Given the description of an element on the screen output the (x, y) to click on. 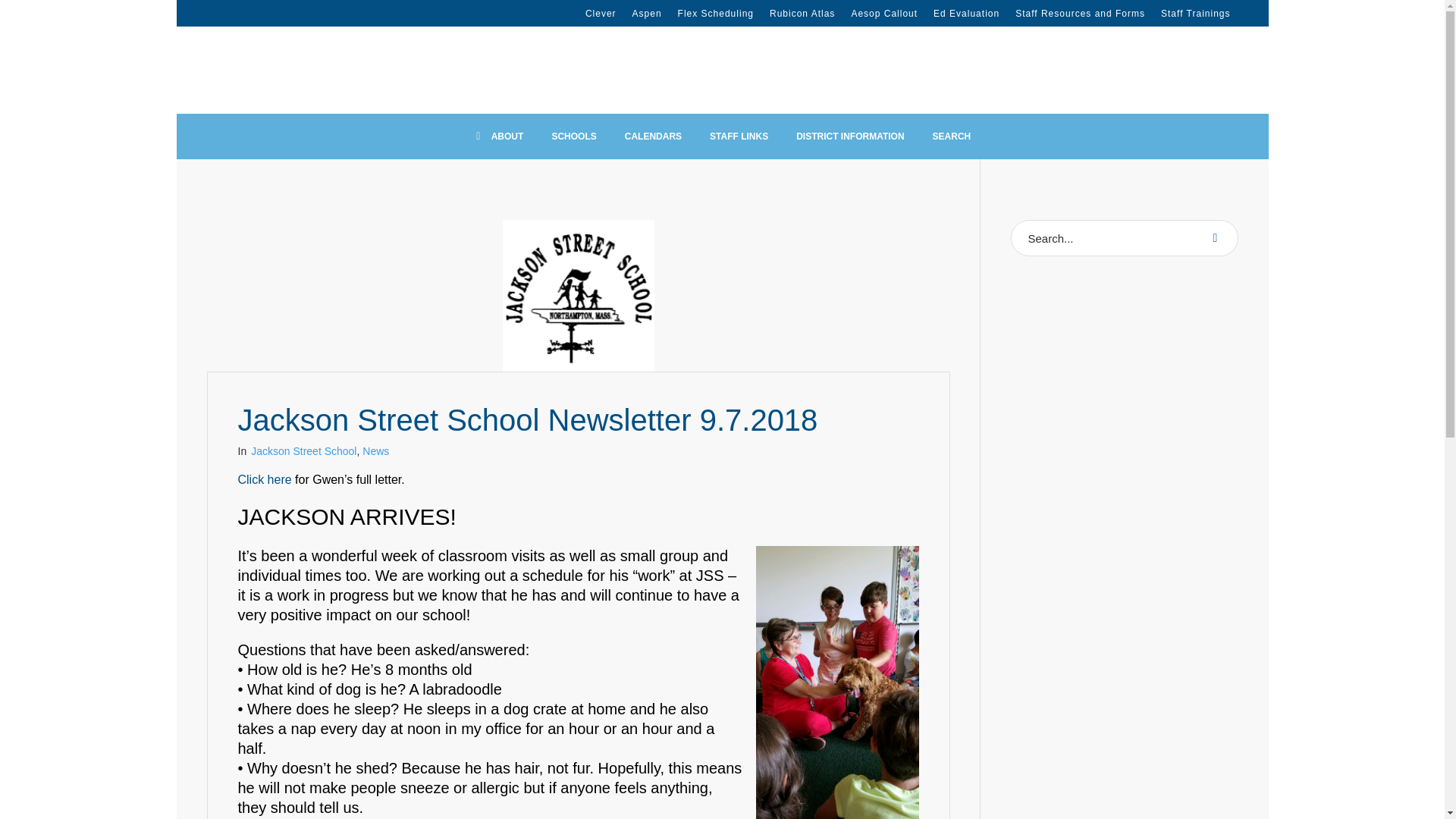
Staff Trainings (1196, 13)
Aspen (646, 13)
Jackson Street School Newsletter 9.7.2018 (577, 294)
Aesop Callout (883, 13)
Clever (601, 13)
Staff Resources and Forms (1080, 13)
Jackson Street School Newsletter 9.7.2018 (577, 295)
SCHOOLS (573, 135)
Rubicon Atlas (802, 13)
Ed Evaluation (966, 13)
Flex Scheduling (715, 13)
ABOUT (498, 135)
